Given the description of an element on the screen output the (x, y) to click on. 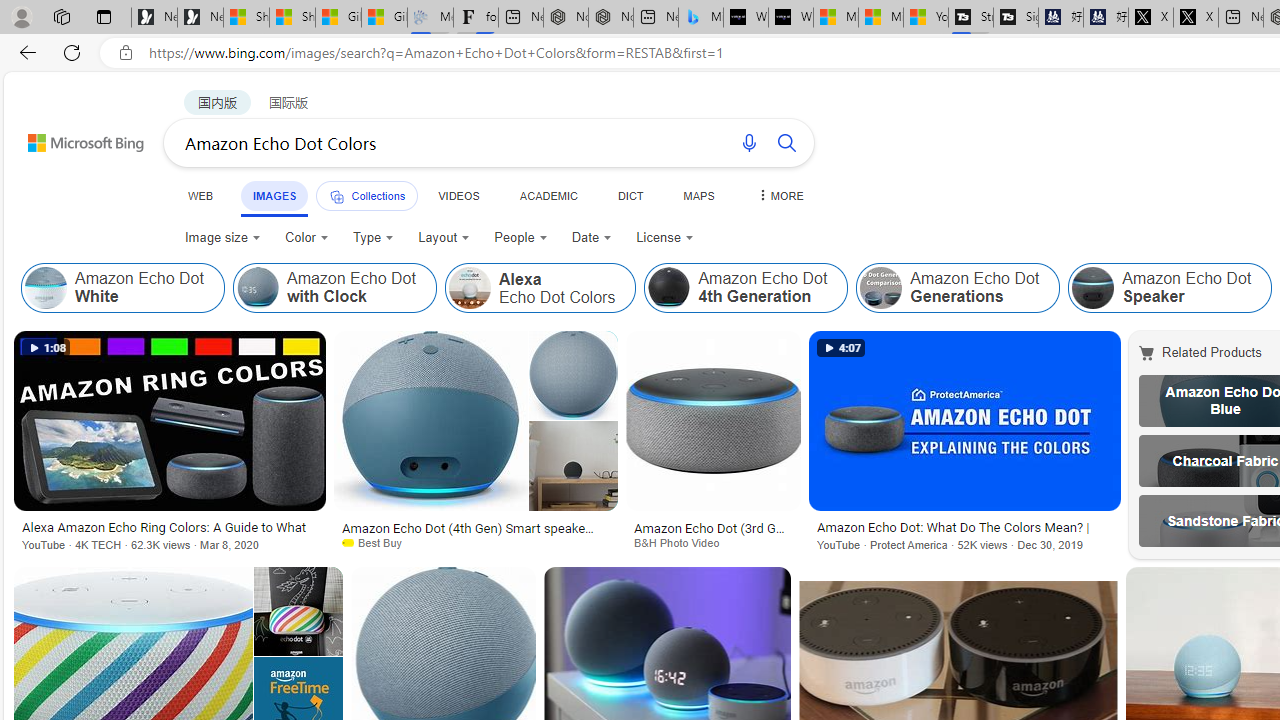
WEB (201, 195)
Amazon Echo Dot 4th Generation (746, 287)
B&H Photo Video (683, 541)
MAPS (698, 195)
Layout (443, 237)
Color (305, 237)
Amazon Echo Dot Speaker (1170, 287)
Gilma and Hector both pose tropical trouble for Hawaii (384, 17)
Amazon Echo Dot Generations (958, 287)
Back to Bing search (73, 138)
Shanghai, China weather forecast | Microsoft Weather (292, 17)
